Given the description of an element on the screen output the (x, y) to click on. 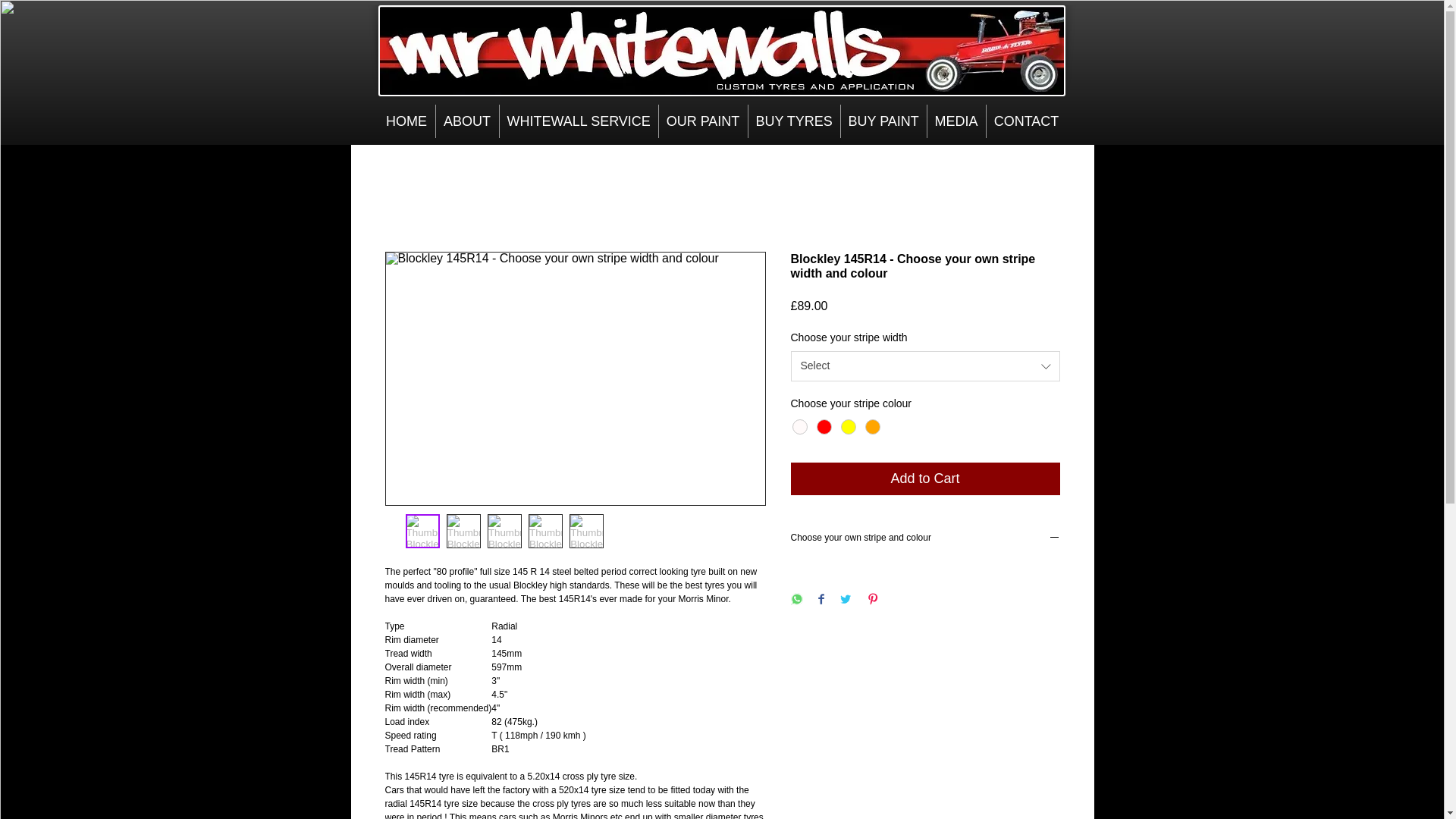
OUR PAINT (702, 121)
Choose your own stripe and colour (924, 539)
Select (924, 366)
BUY TYRES (794, 121)
Add to Cart (924, 478)
ABOUT (466, 121)
WHITEWALL SERVICE (578, 121)
BUY PAINT (883, 121)
HOME (405, 121)
CONTACT (1025, 121)
